Given the description of an element on the screen output the (x, y) to click on. 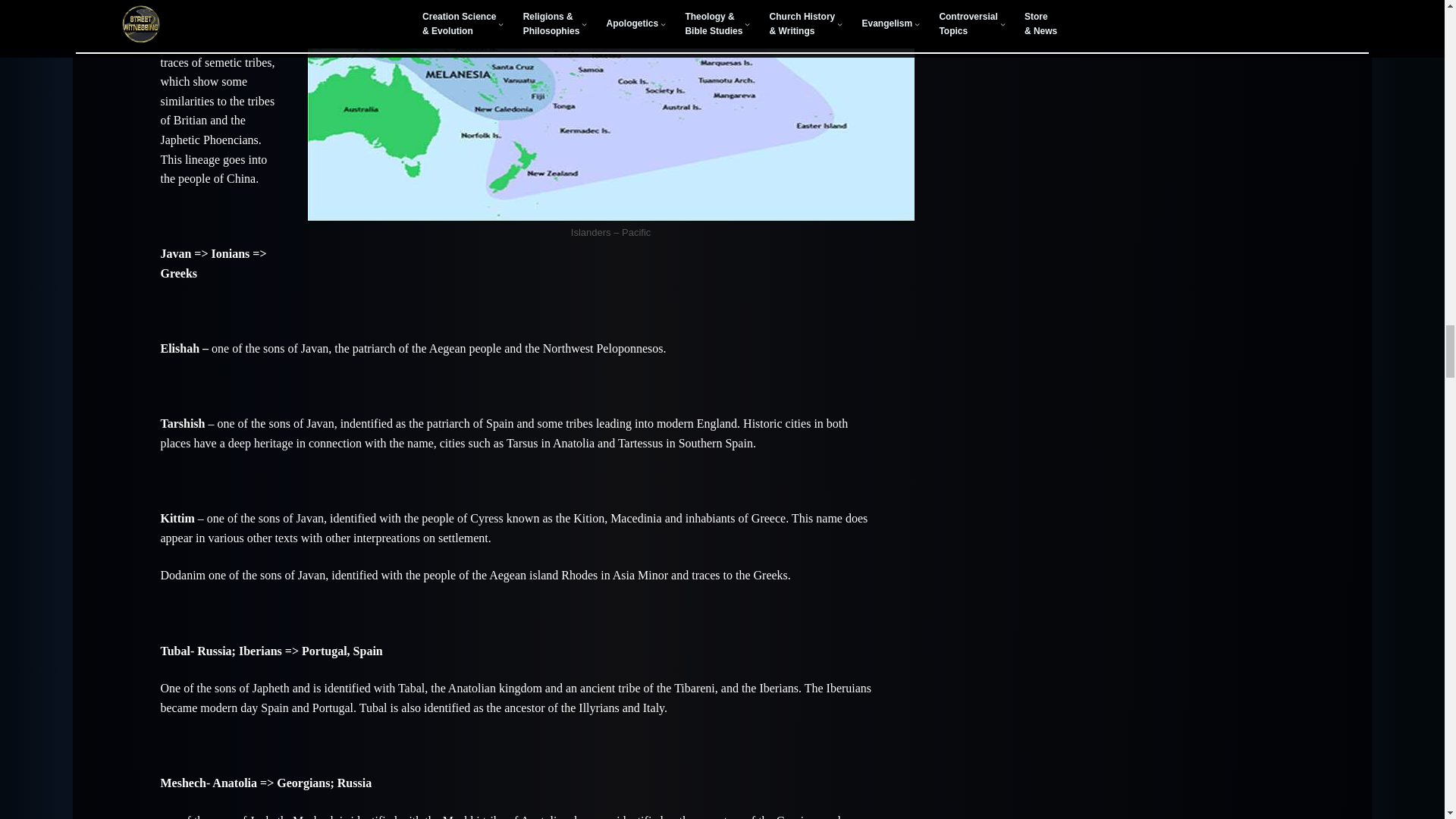
Fig.4 - Pacific Islanders (610, 110)
